Given the description of an element on the screen output the (x, y) to click on. 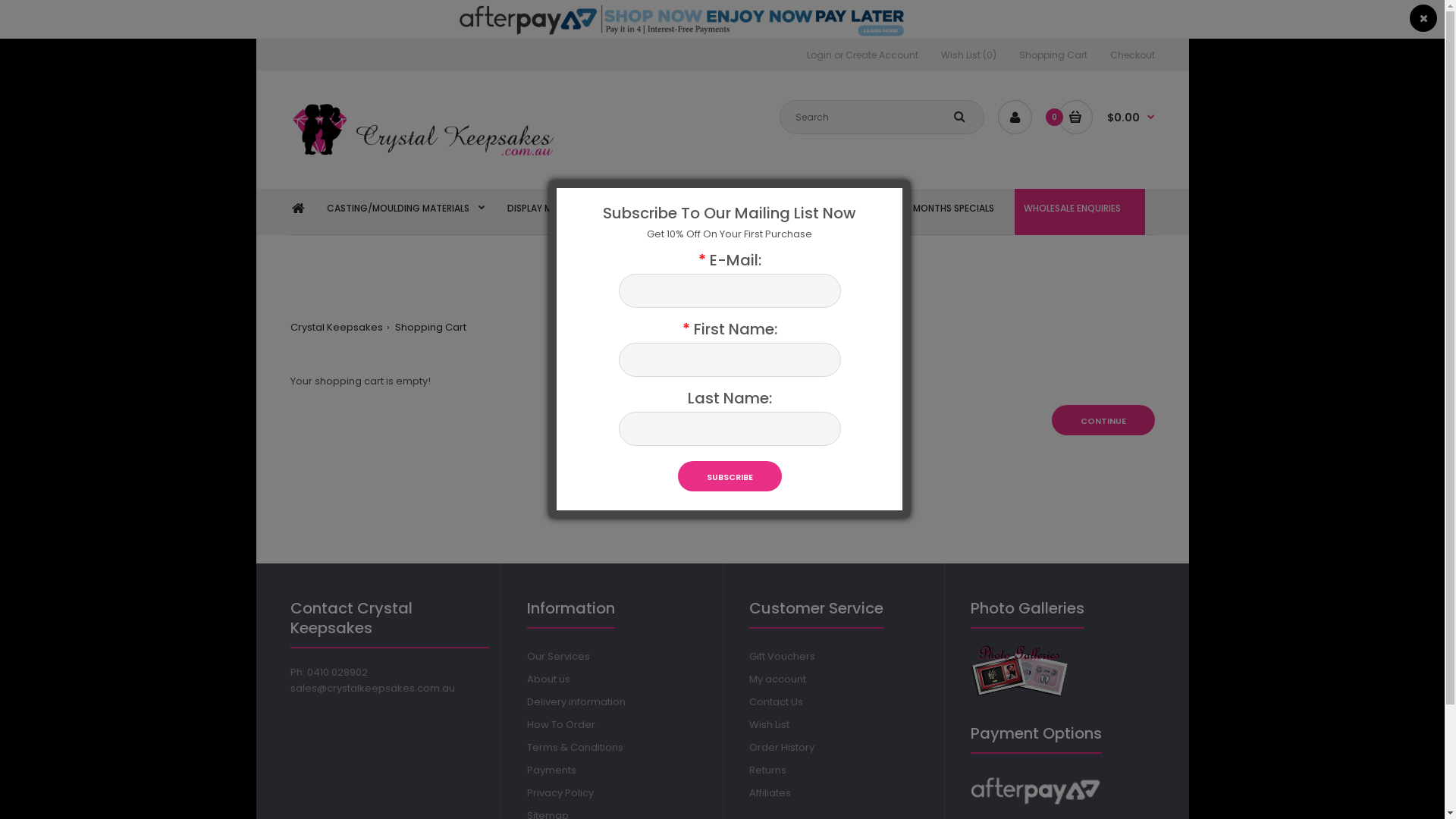
WHOLESALE ENQUIRIES Element type: text (1072, 211)
DIY CASTING KITS Element type: text (676, 211)
CASTING/MOULDING MATERIALS Element type: text (405, 211)
Payments Element type: text (551, 769)
CONTINUE Element type: text (1102, 420)
Crystal Keepsakes  - DIY Kits, Services & Supplies Element type: hover (425, 130)
About us Element type: text (548, 678)
Gift Vouchers Element type: text (782, 656)
Privacy Policy Element type: text (560, 792)
sales@crystalkeepsakes.com.au Element type: text (371, 687)
Our Services Element type: text (558, 656)
0
$0.00 Element type: text (1106, 117)
Ph: 0410 028902 Element type: text (328, 672)
Checkout Element type: text (1132, 54)
Contact Us Element type: text (776, 701)
Crystal Keepsakes Element type: text (335, 327)
Wish List Element type: text (769, 724)
Order History Element type: text (781, 747)
SUBSCRIBE Element type: text (729, 476)
My account Element type: text (777, 678)
Shopping Cart Element type: text (429, 327)
THIS MONTHS SPECIALS Element type: text (941, 211)
Wish List (0) Element type: text (967, 54)
Delivery information Element type: text (576, 701)
Returns Element type: text (767, 769)
How To Order Element type: text (561, 724)
PAINTS, SEALERS & MORE Element type: text (807, 211)
Affiliates Element type: text (769, 792)
Terms & Conditions Element type: text (575, 747)
DISPLAY MATERIALS Element type: text (556, 211)
Shopping Cart Element type: text (1053, 54)
Login or Create Account Element type: text (862, 54)
